Given the description of an element on the screen output the (x, y) to click on. 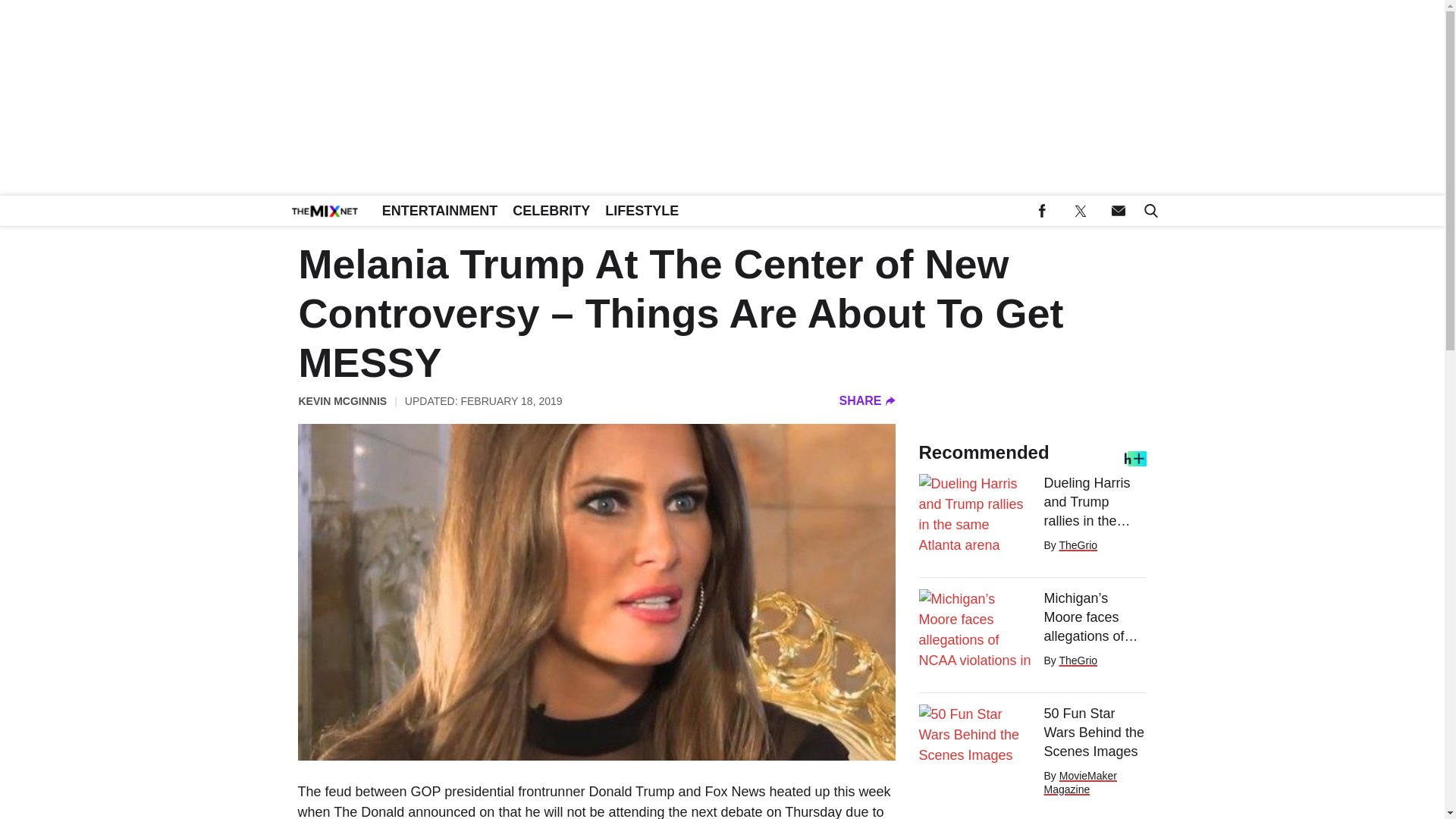
TheGrio (1077, 660)
Follow us on Twitter (1080, 210)
Send us an email (1118, 210)
Posts by Kevin McGinnis (342, 400)
CELEBRITY (550, 210)
LIFESTYLE (640, 210)
50 Fun Star Wars Behind the Scenes Images (1094, 732)
ENTERTAINMENT (439, 210)
KEVIN MCGINNIS (342, 400)
TheGrio (1077, 544)
MovieMaker Magazine (1079, 782)
Follow us on Facebook (1042, 210)
